Given the description of an element on the screen output the (x, y) to click on. 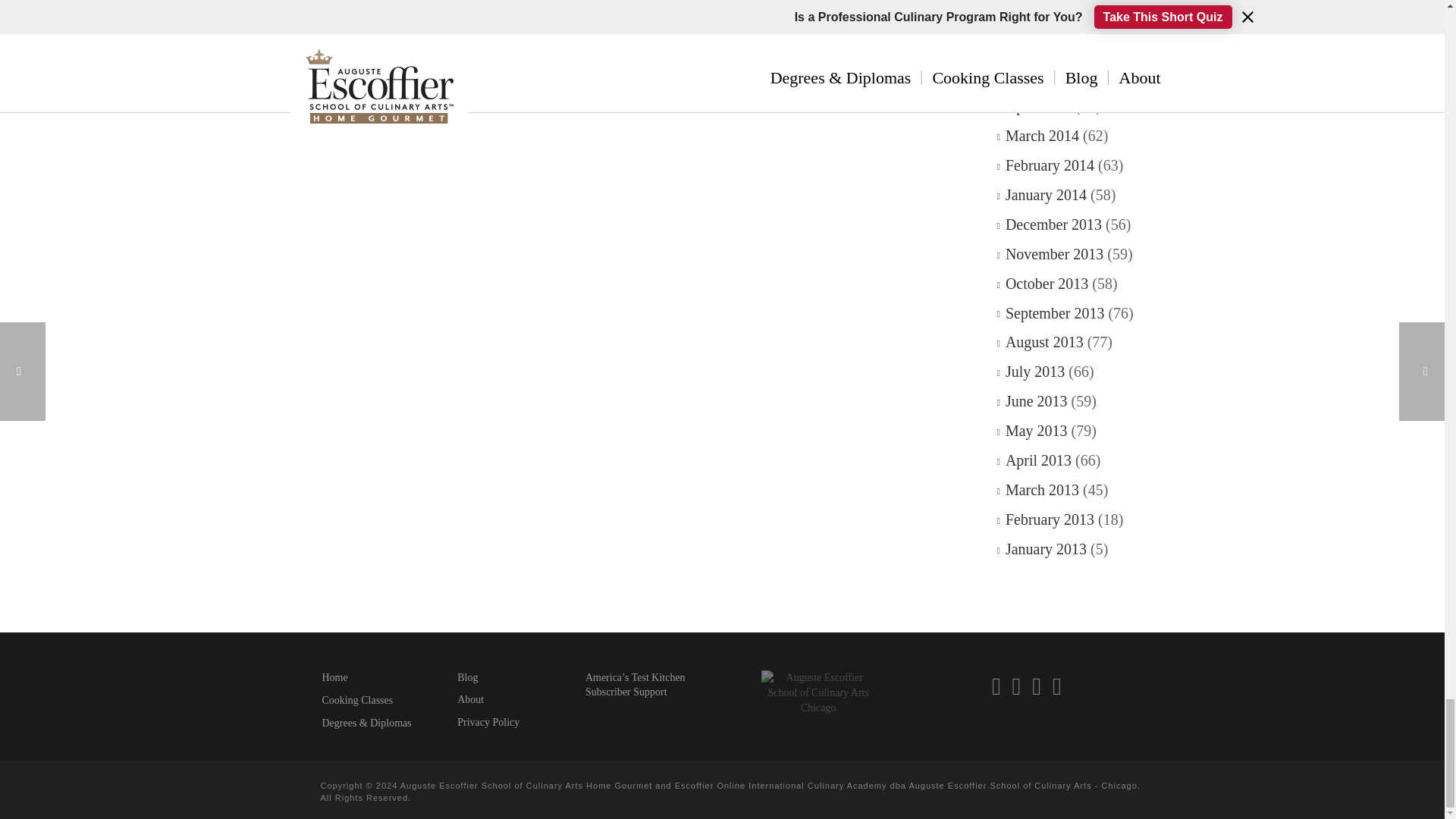
Follow Us on facebook (996, 686)
Follow Us on instagram (1016, 686)
Follow Us on twitter (1036, 686)
Follow Us on youtube (1056, 686)
